Given the description of an element on the screen output the (x, y) to click on. 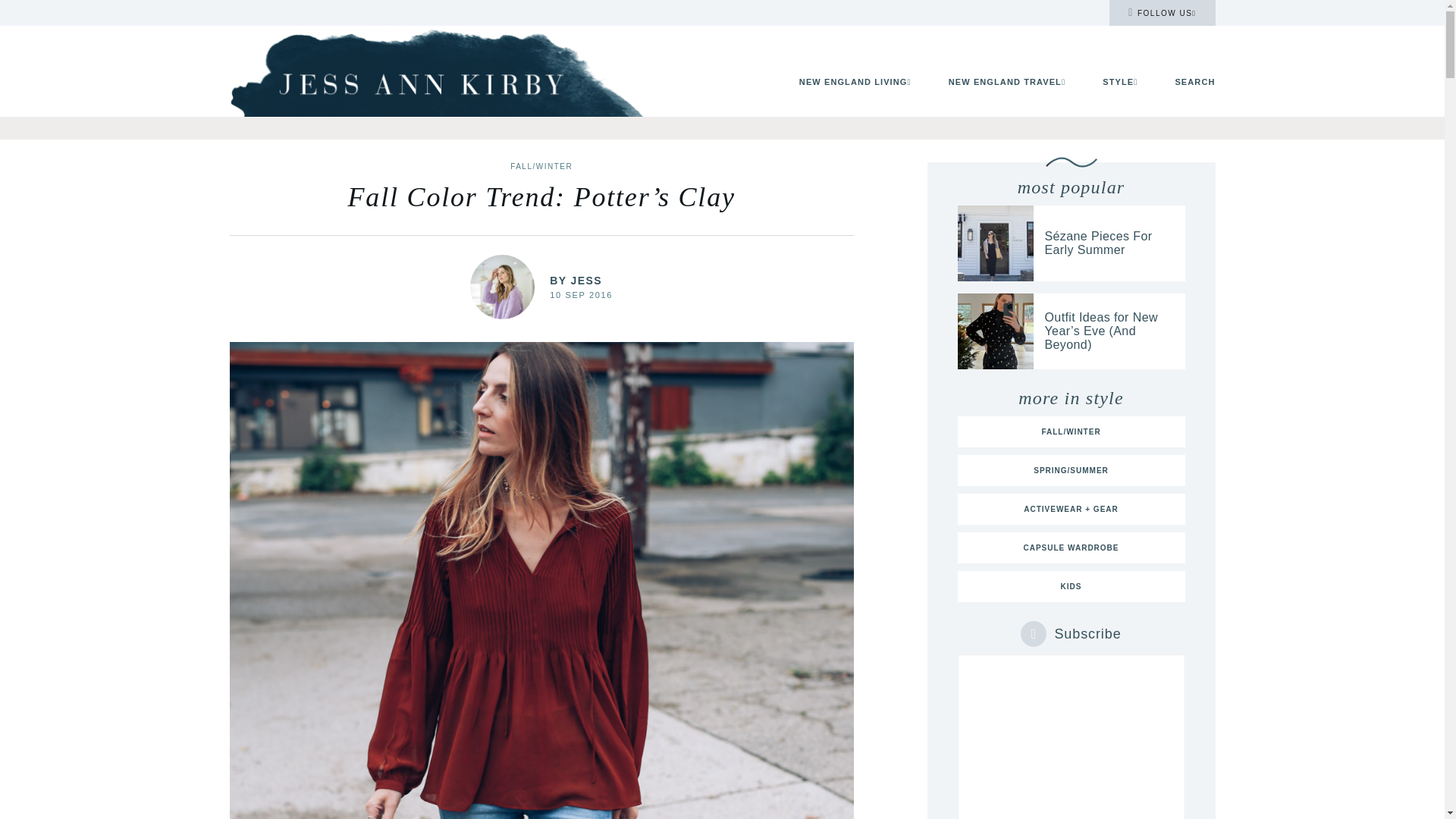
NEW ENGLAND LIVING (855, 81)
FOLLOW US (1161, 12)
NEW ENGLAND TRAVEL (1007, 81)
STYLE (1119, 81)
SEARCH (1194, 81)
